Given the description of an element on the screen output the (x, y) to click on. 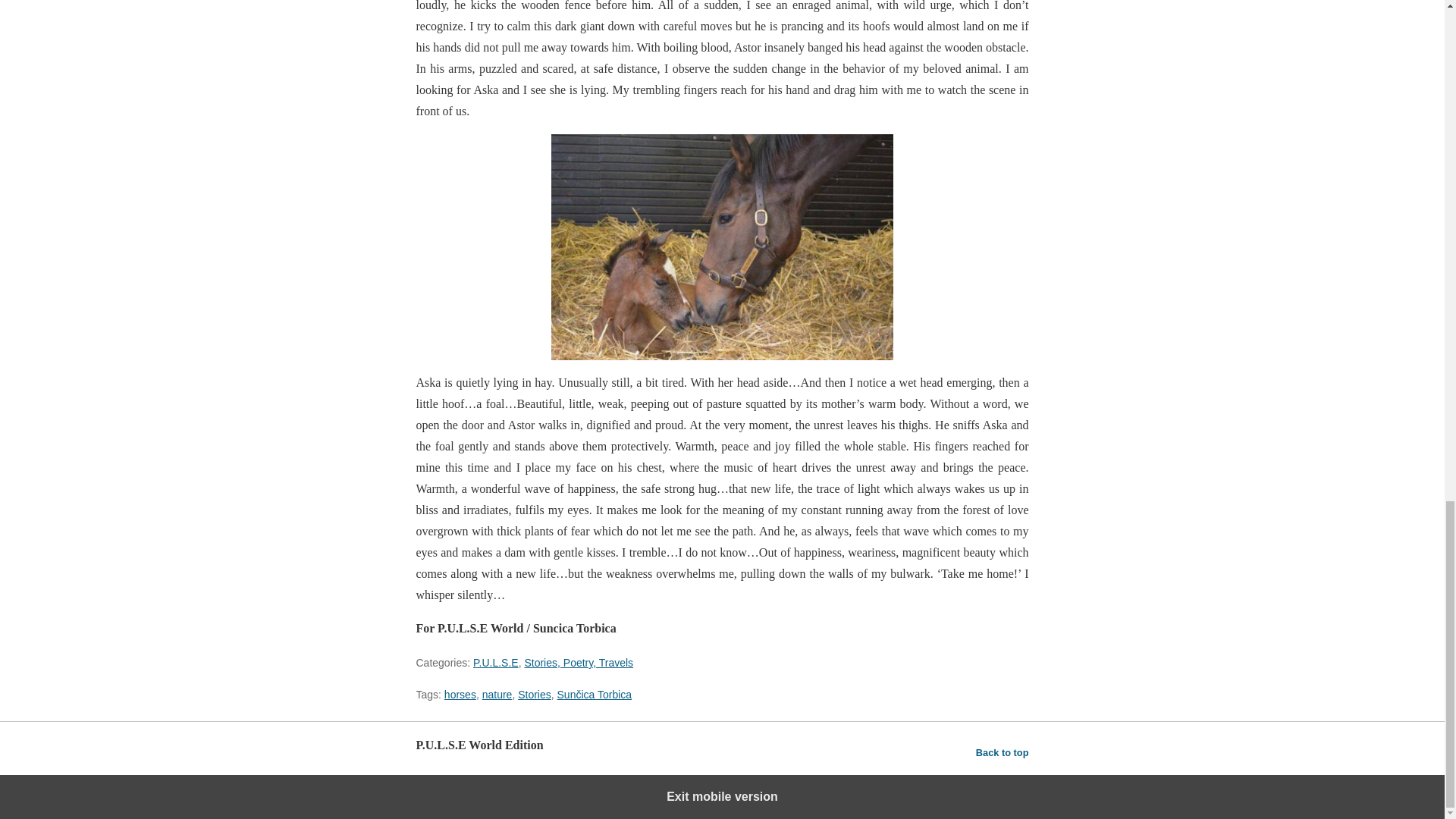
P.U.L.S.E (495, 662)
horses (460, 694)
Stories, Poetry, Travels (578, 662)
nature (496, 694)
Back to top (1002, 752)
Stories (534, 694)
